Given the description of an element on the screen output the (x, y) to click on. 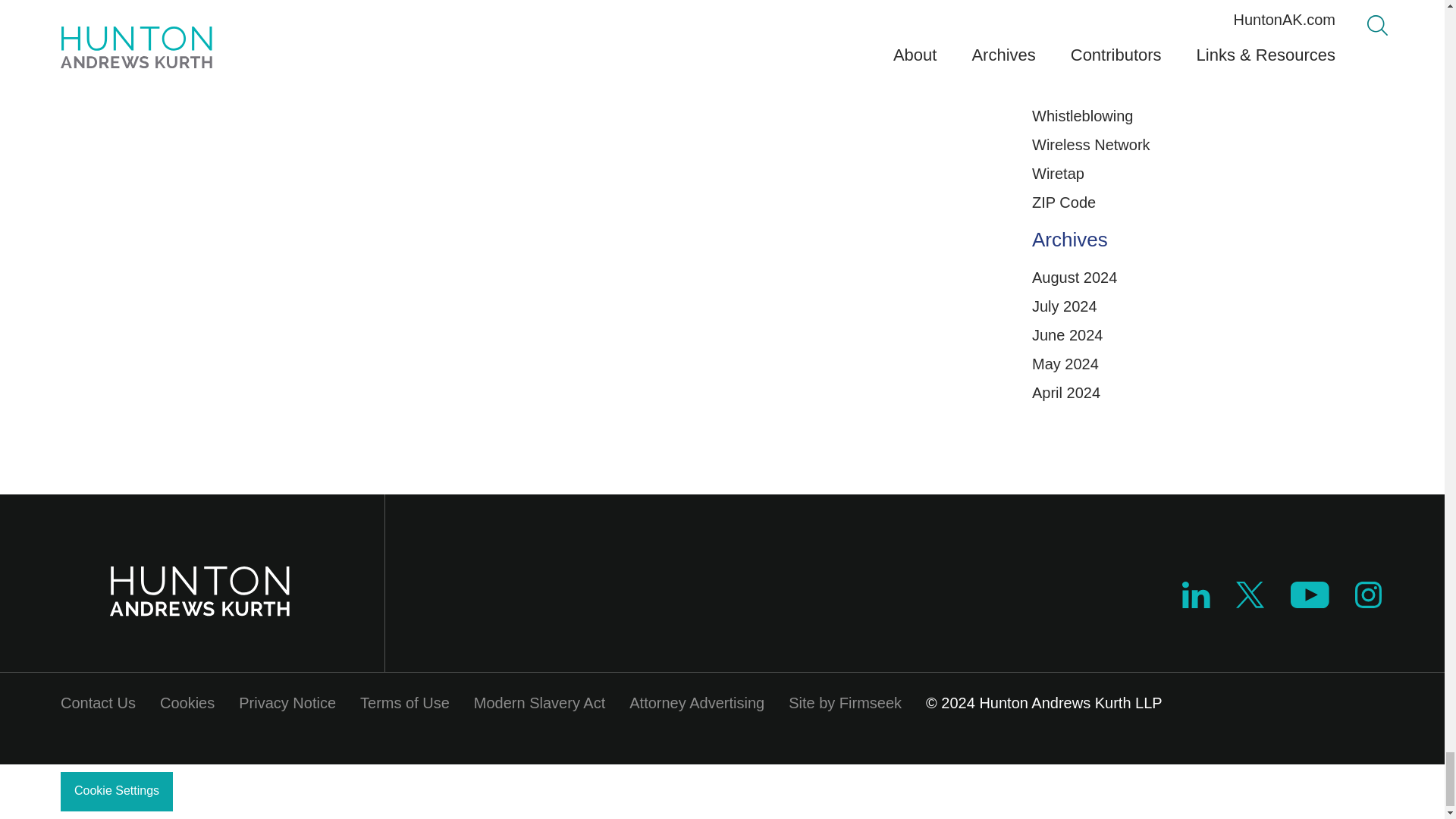
Youtube (1309, 602)
Youtube (1309, 594)
Linkedin (1195, 602)
X (1250, 602)
Instagram (1368, 594)
Linkedin (1195, 594)
Instagram (1369, 602)
